Given the description of an element on the screen output the (x, y) to click on. 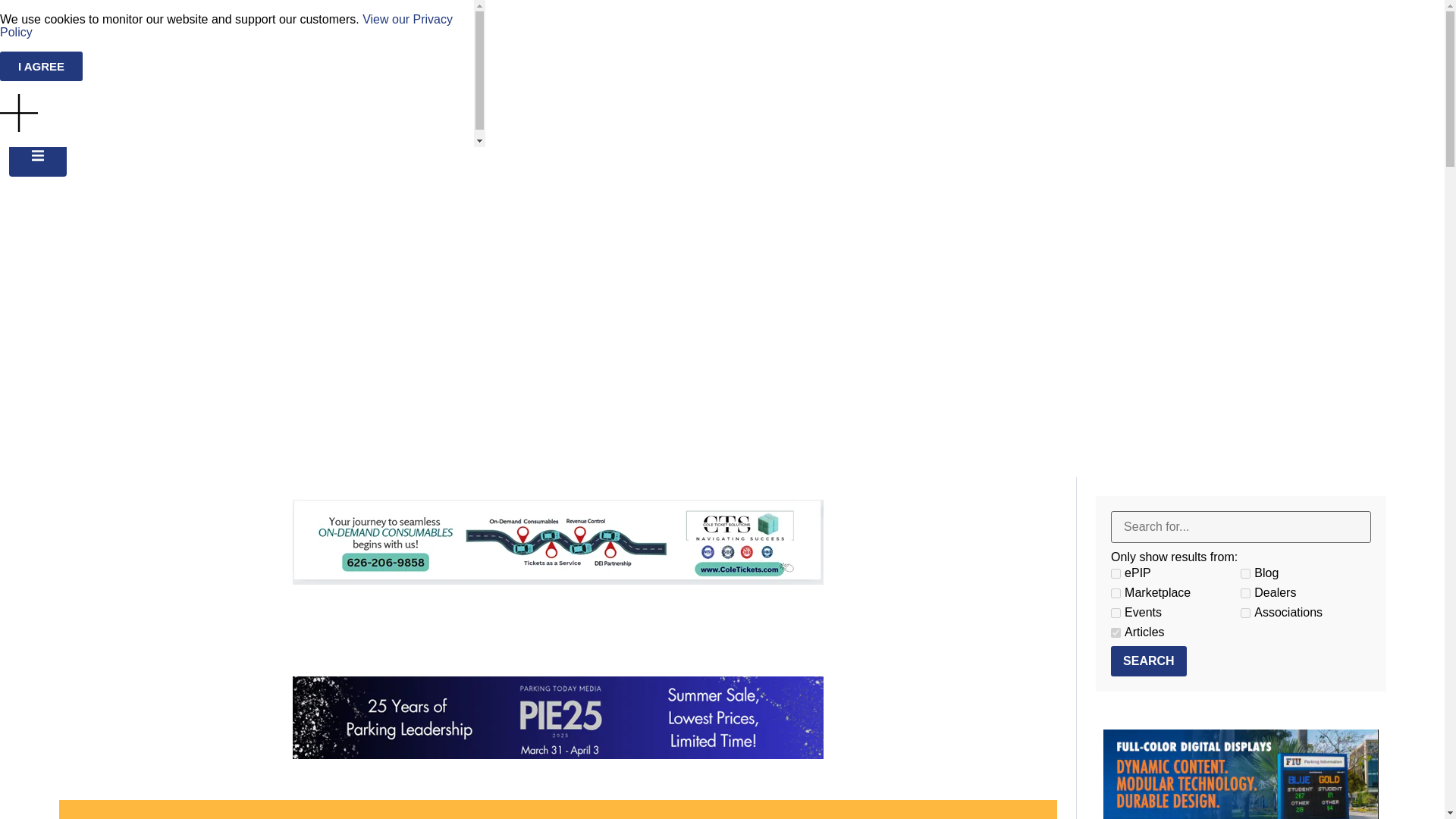
Search (1148, 661)
Associations (1245, 613)
Blog (1245, 573)
Articles (1115, 633)
ePIP (1115, 573)
Search (1148, 661)
Marketplace (1115, 593)
Events (1115, 613)
